Given the description of an element on the screen output the (x, y) to click on. 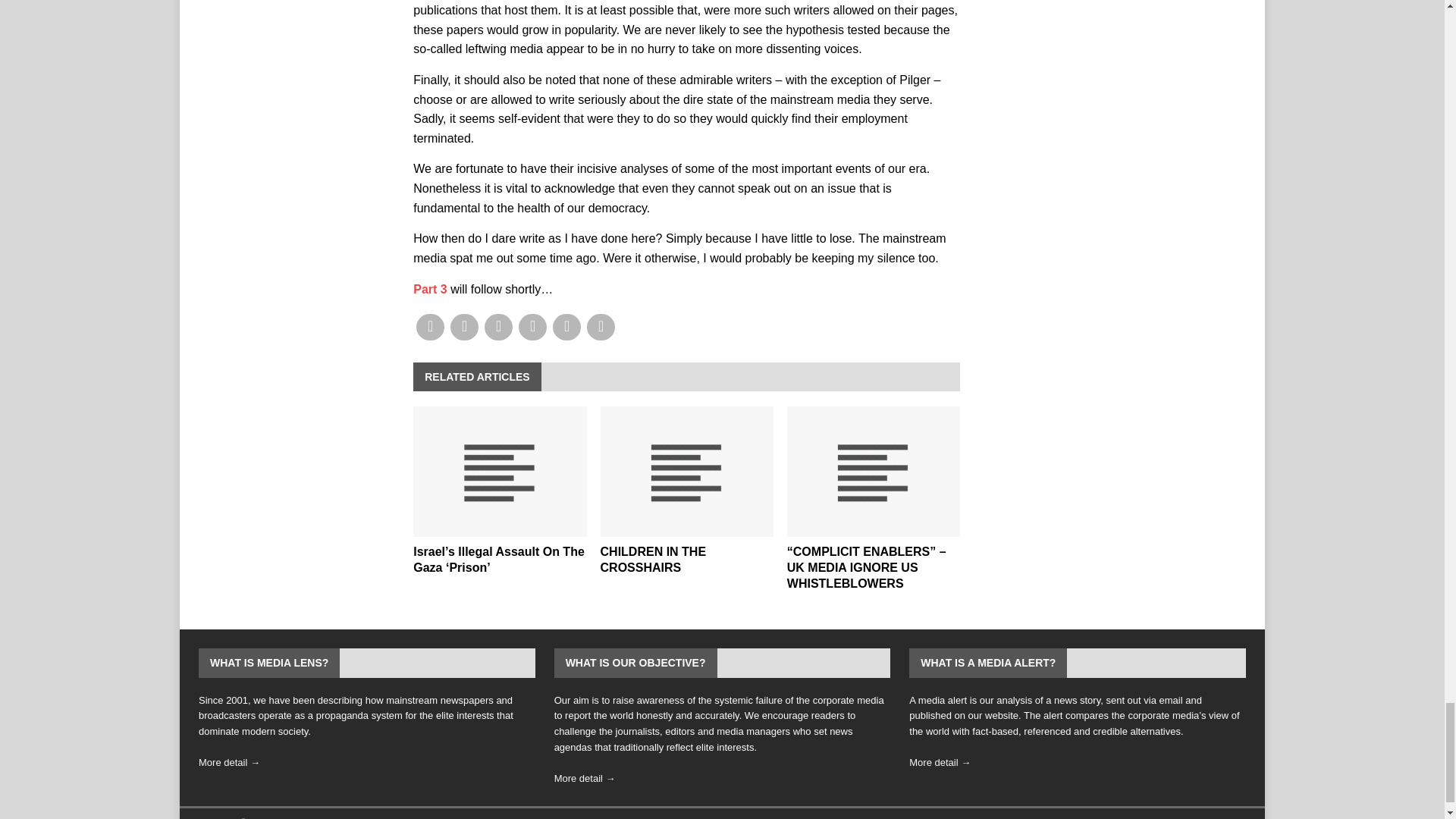
CHILDREN IN THE CROSSHAIRS (652, 559)
CHILDREN IN THE CROSSHAIRS (686, 471)
